Given the description of an element on the screen output the (x, y) to click on. 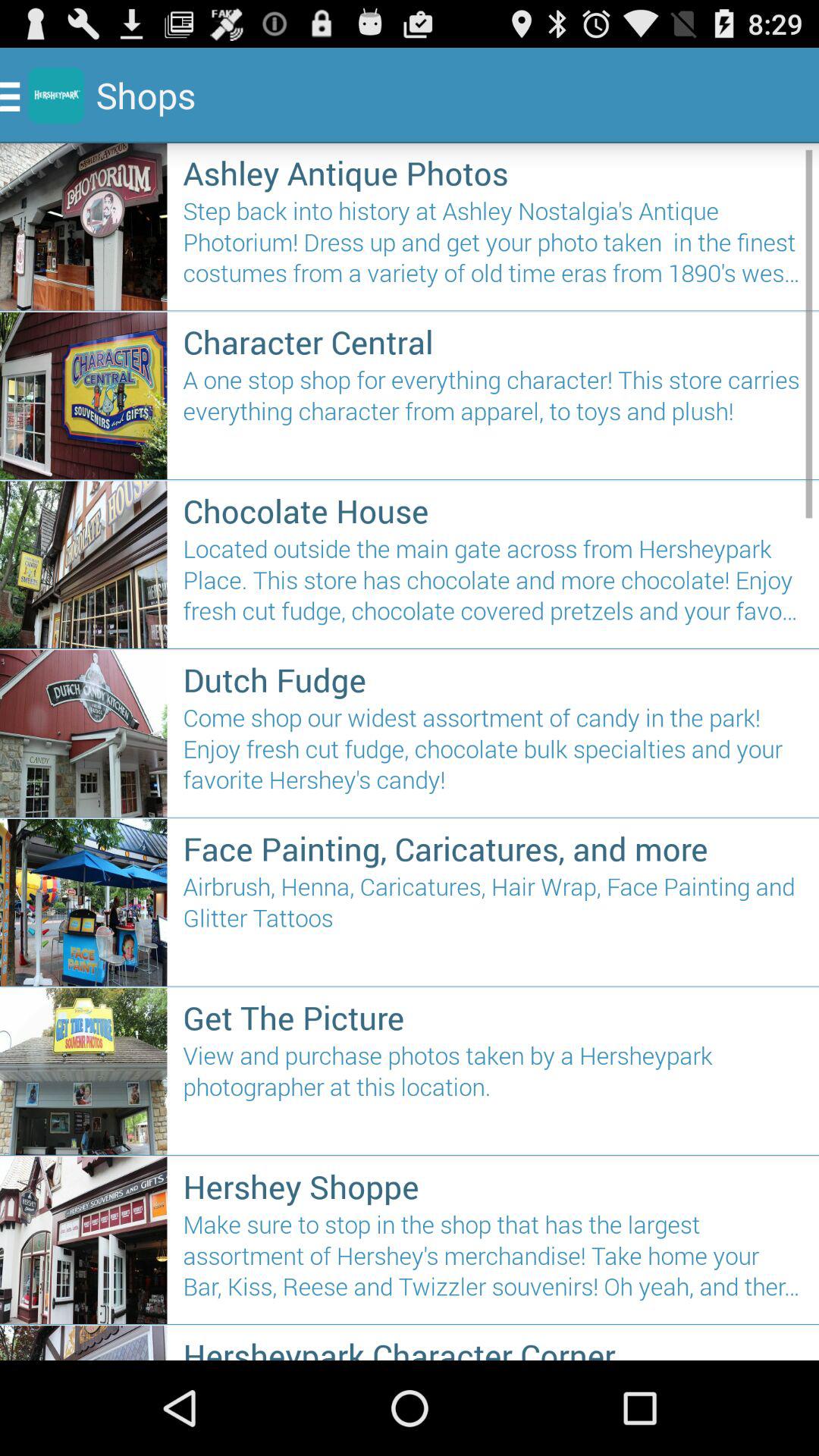
tap the item above character central icon (493, 248)
